Given the description of an element on the screen output the (x, y) to click on. 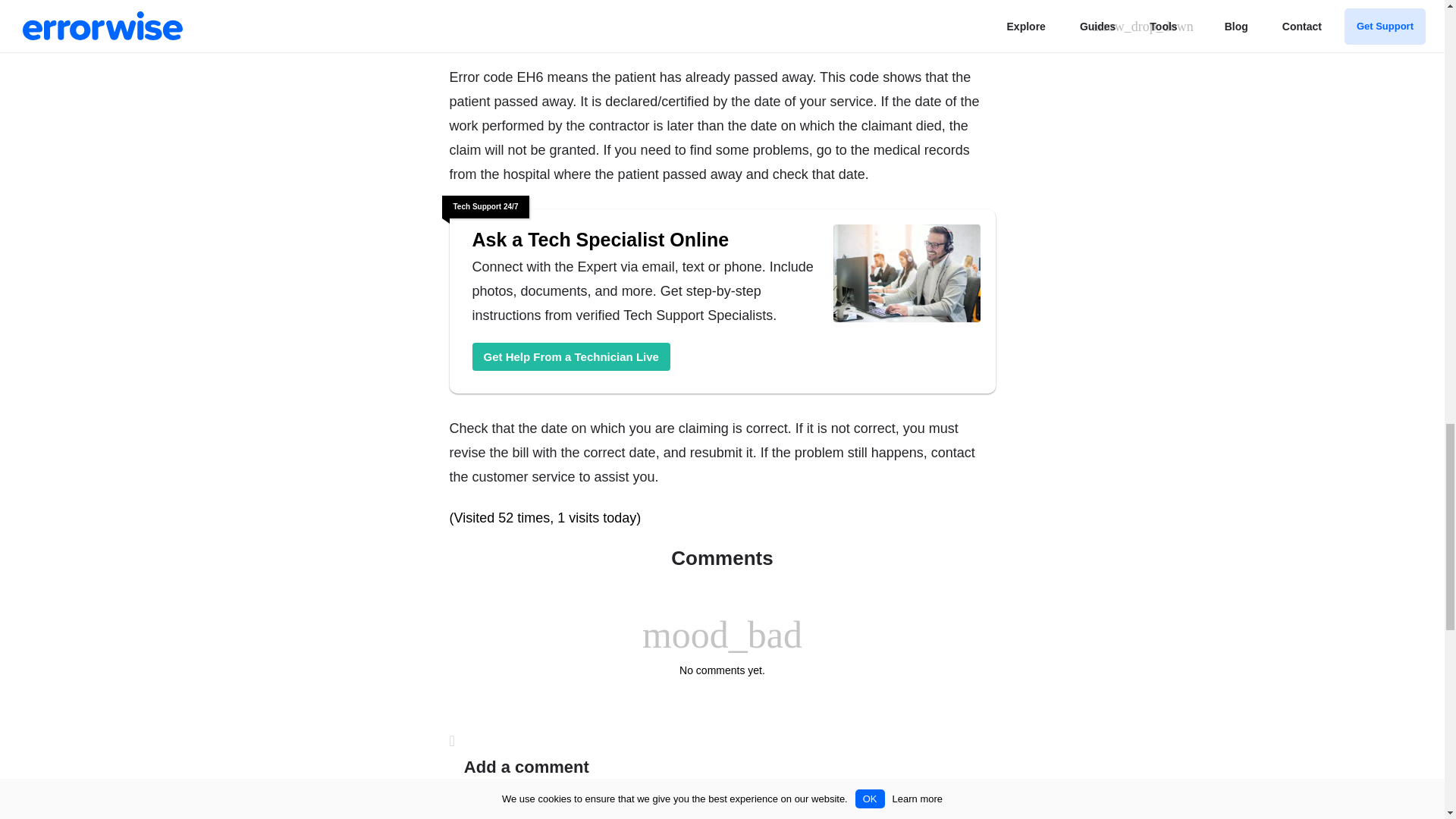
Ask a Tech Specialist Online (570, 357)
Get Help From a Technician Live (570, 357)
Ask a Tech Specialist Online (905, 275)
Ask a Tech Specialist Online (643, 239)
Ask a Tech Specialist Online (643, 239)
